Given the description of an element on the screen output the (x, y) to click on. 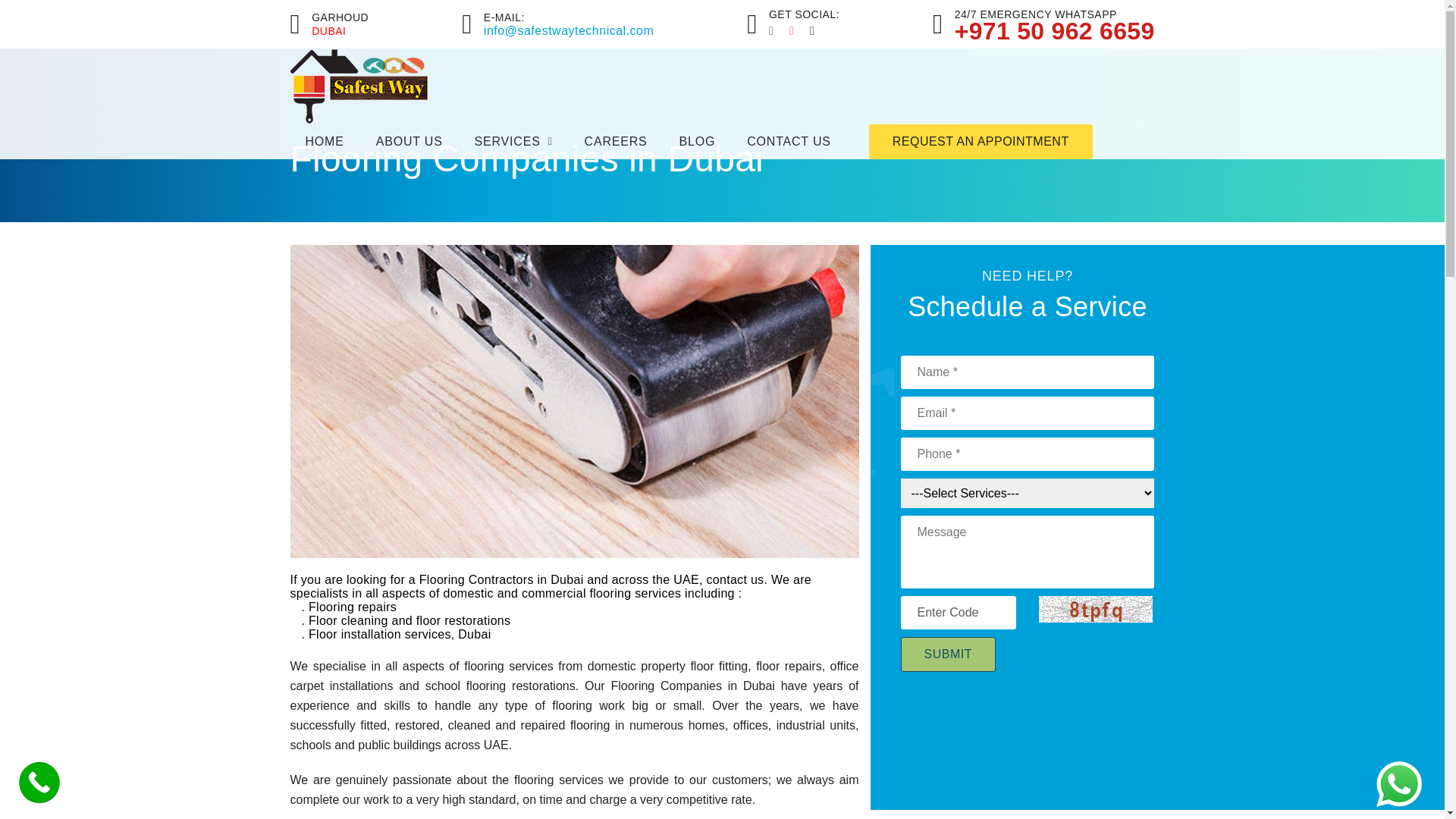
HOME (323, 141)
ABOUT US (409, 141)
Submit (948, 654)
SERVICES (513, 141)
